Given the description of an element on the screen output the (x, y) to click on. 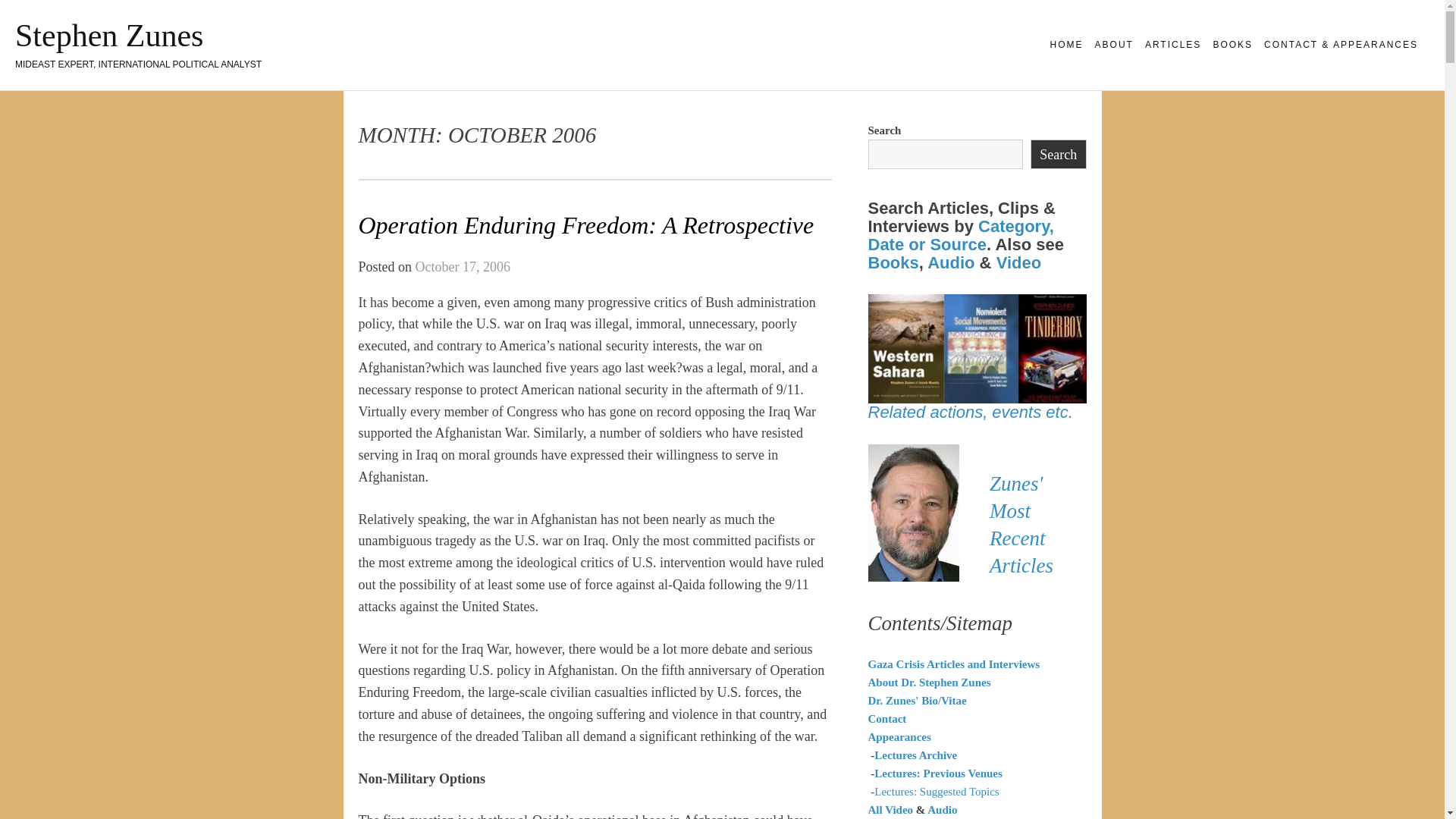
Related actions, events etc. (969, 411)
Search (1058, 153)
Books (892, 262)
Gaza Crisis Articles and Interviews (953, 664)
Lectures Archive (915, 755)
Stephen Zunes (108, 35)
Category, Date or Source (959, 235)
Contact (886, 718)
About Dr. Stephen Zunes (928, 682)
October 17, 2006 (462, 266)
Video (1018, 262)
Audio (950, 262)
Audio (941, 809)
Lectures: Suggested Topics (936, 791)
Lectures: Previous Venues (939, 773)
